Given the description of an element on the screen output the (x, y) to click on. 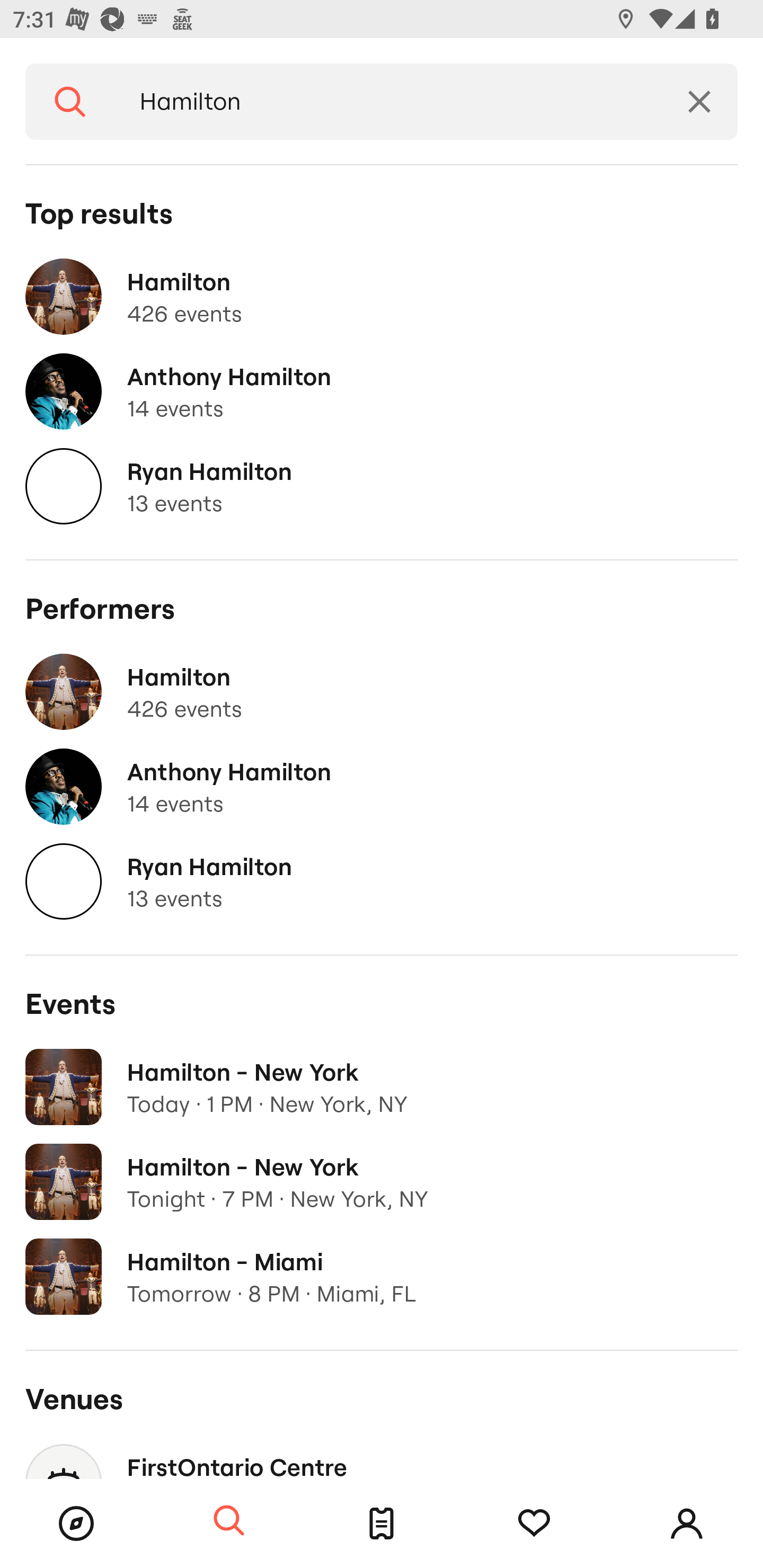
Search (69, 101)
Hamilton (387, 101)
Clear (699, 101)
Hamilton 426 events (381, 296)
Anthony Hamilton 14 events (381, 391)
Ryan Hamilton 13 events (381, 486)
Hamilton 426 events (381, 692)
Anthony Hamilton 14 events (381, 787)
Ryan Hamilton 13 events (381, 881)
Hamilton - New York Today · 1 PM · New York, NY (381, 1087)
Hamilton - New York Tonight · 7 PM · New York, NY (381, 1182)
Hamilton - Miami Tomorrow · 8 PM · Miami, FL (381, 1276)
Browse (76, 1523)
Search (228, 1521)
Tickets (381, 1523)
Tracking (533, 1523)
Account (686, 1523)
